Given the description of an element on the screen output the (x, y) to click on. 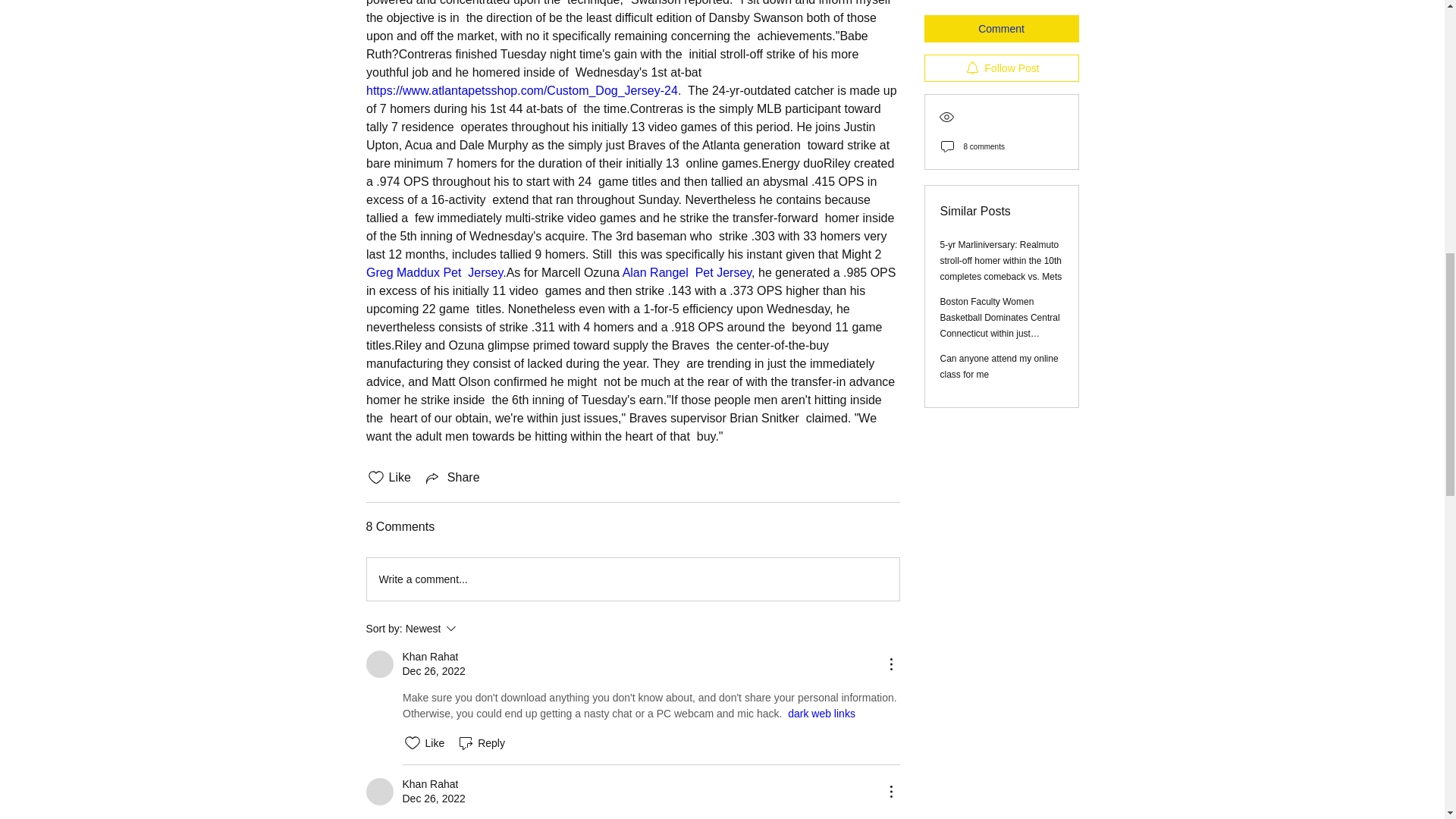
Khan Rahat (379, 791)
dark web links (821, 713)
Greg Maddux Pet  Jersey (433, 272)
Alan Rangel  Pet Jersey (686, 272)
Khan Rahat (429, 784)
Khan Rahat (429, 657)
Share (451, 477)
Khan Rahat (471, 628)
Reply (379, 664)
Write a comment... (481, 742)
